Given the description of an element on the screen output the (x, y) to click on. 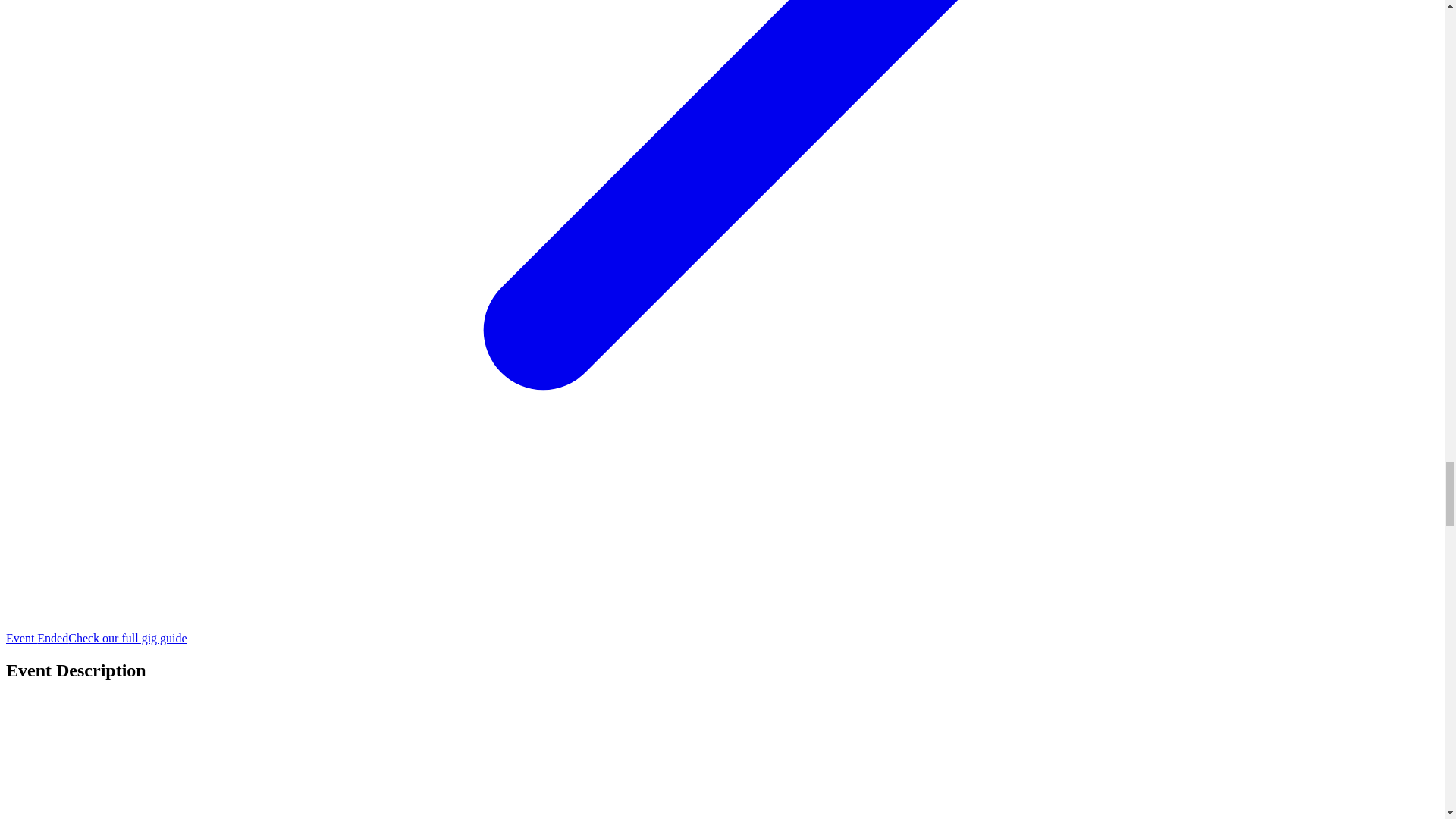
Event Ended (36, 637)
Check our full gig guide (127, 637)
